Given the description of an element on the screen output the (x, y) to click on. 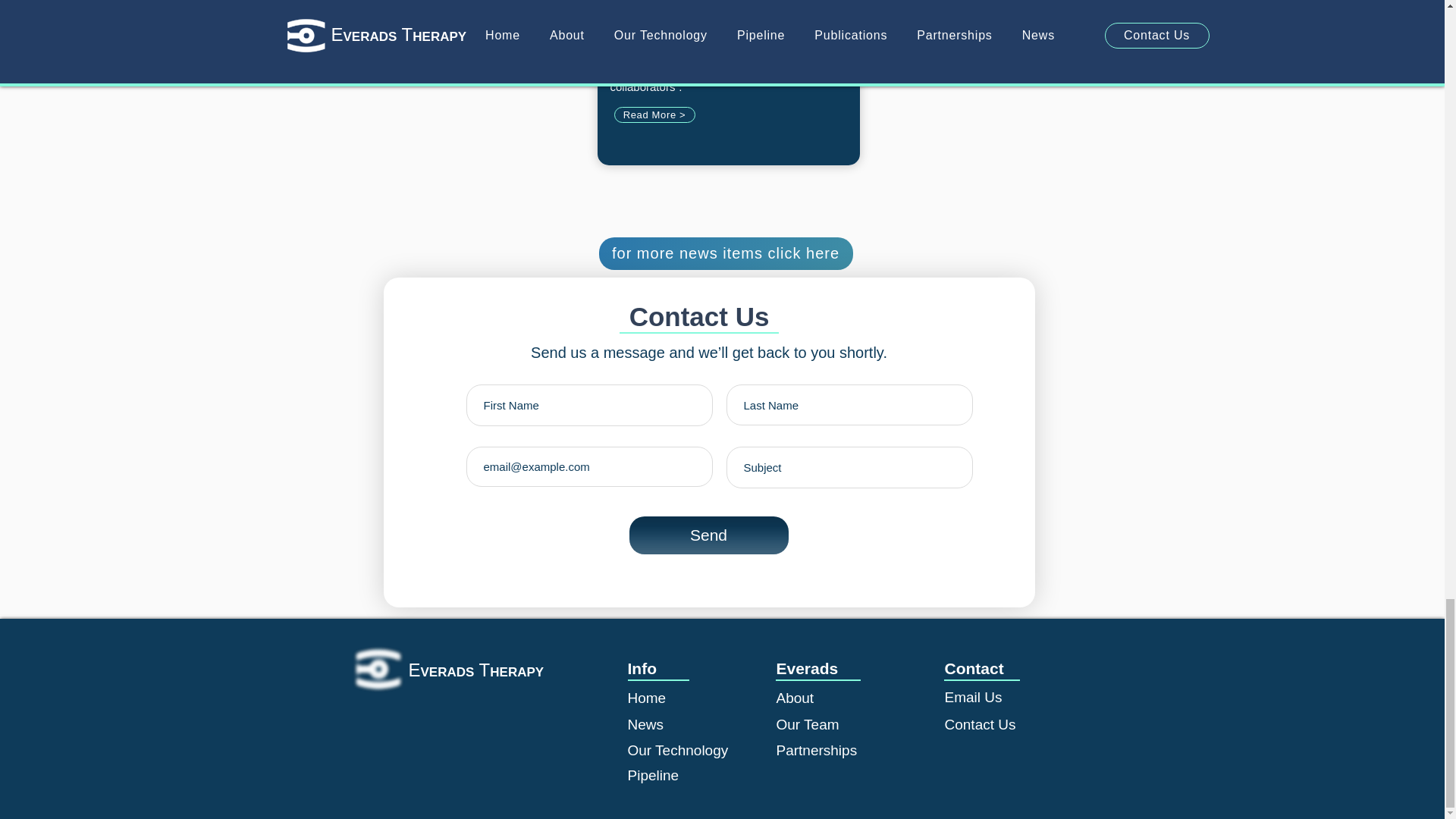
Our Team (808, 724)
Home (646, 697)
Our Technology (678, 750)
Pipeline (653, 774)
Send (708, 535)
for more news items click here (725, 253)
Partnerships (816, 750)
Contact Us (980, 724)
News (645, 724)
About (794, 697)
Email Us (973, 697)
